Given the description of an element on the screen output the (x, y) to click on. 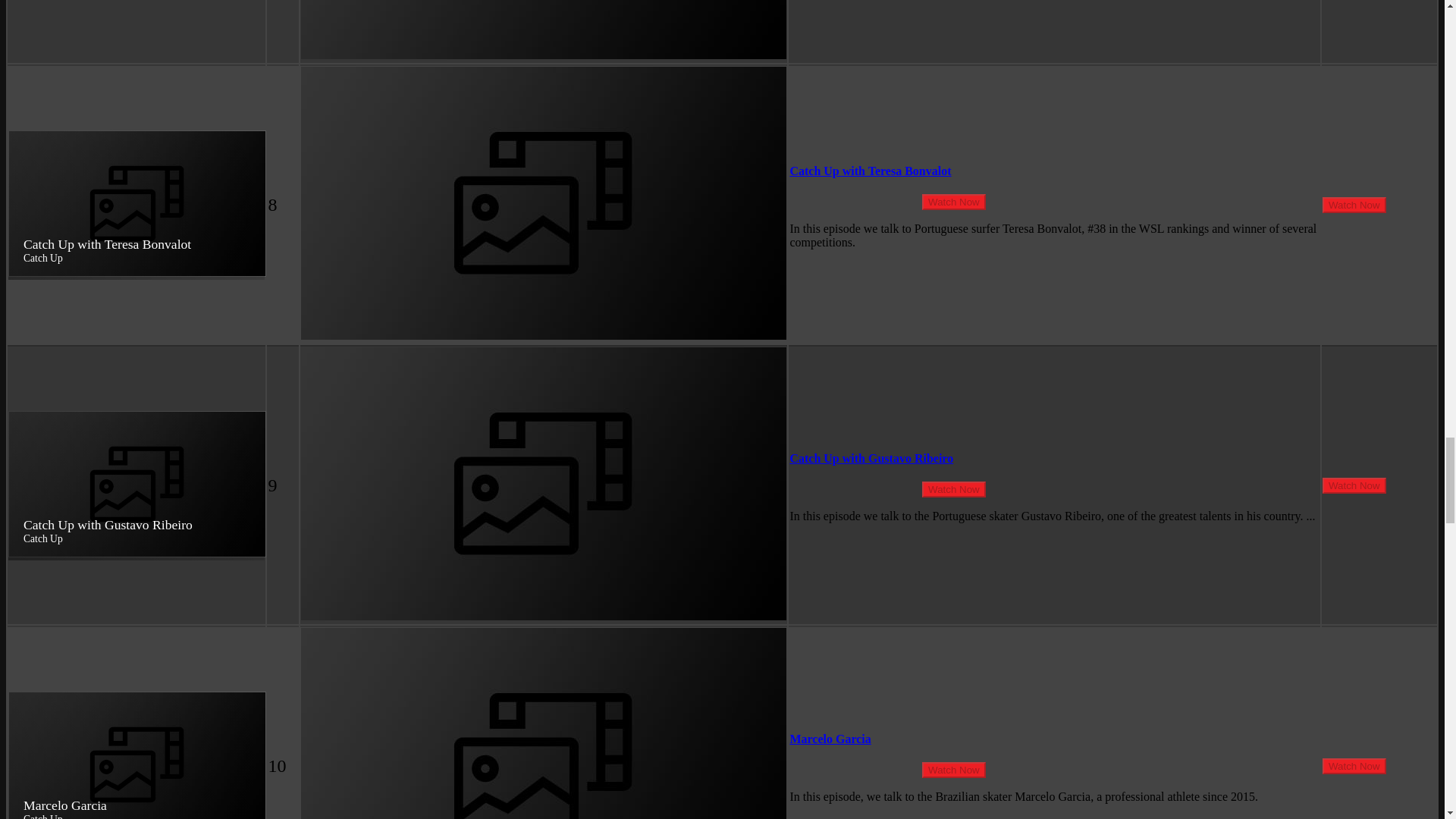
Catch Up with Teresa Bonvalot (869, 170)
Marcelo Garcia (829, 738)
Catch Up with Gustavo Ribeiro (871, 458)
